Given the description of an element on the screen output the (x, y) to click on. 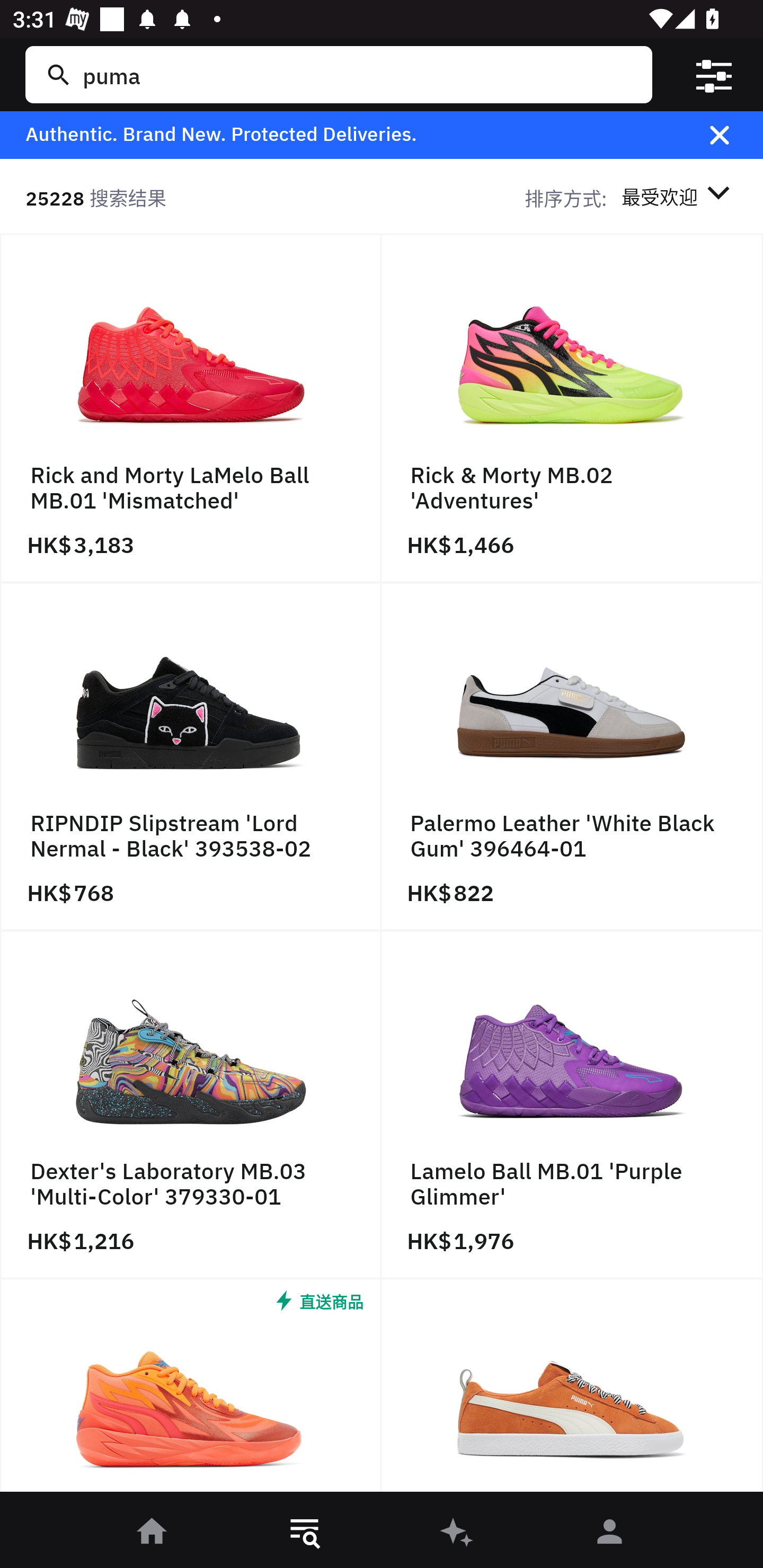
puma (358, 74)
 (713, 74)
Authentic. Brand New. Protected Deliveries. (350, 134)
 (732, 134)
最受欢迎  (678, 196)
Rick & Morty MB.02 'Adventures' HK$ 1,466 (572, 409)
Lamelo Ball MB.01 'Purple Glimmer' HK$ 1,976 (572, 1105)
 直送商品 (190, 1389)
󰋜 (152, 1532)
󱎸 (305, 1532)
󰫢 (457, 1532)
󰀄 (610, 1532)
